Given the description of an element on the screen output the (x, y) to click on. 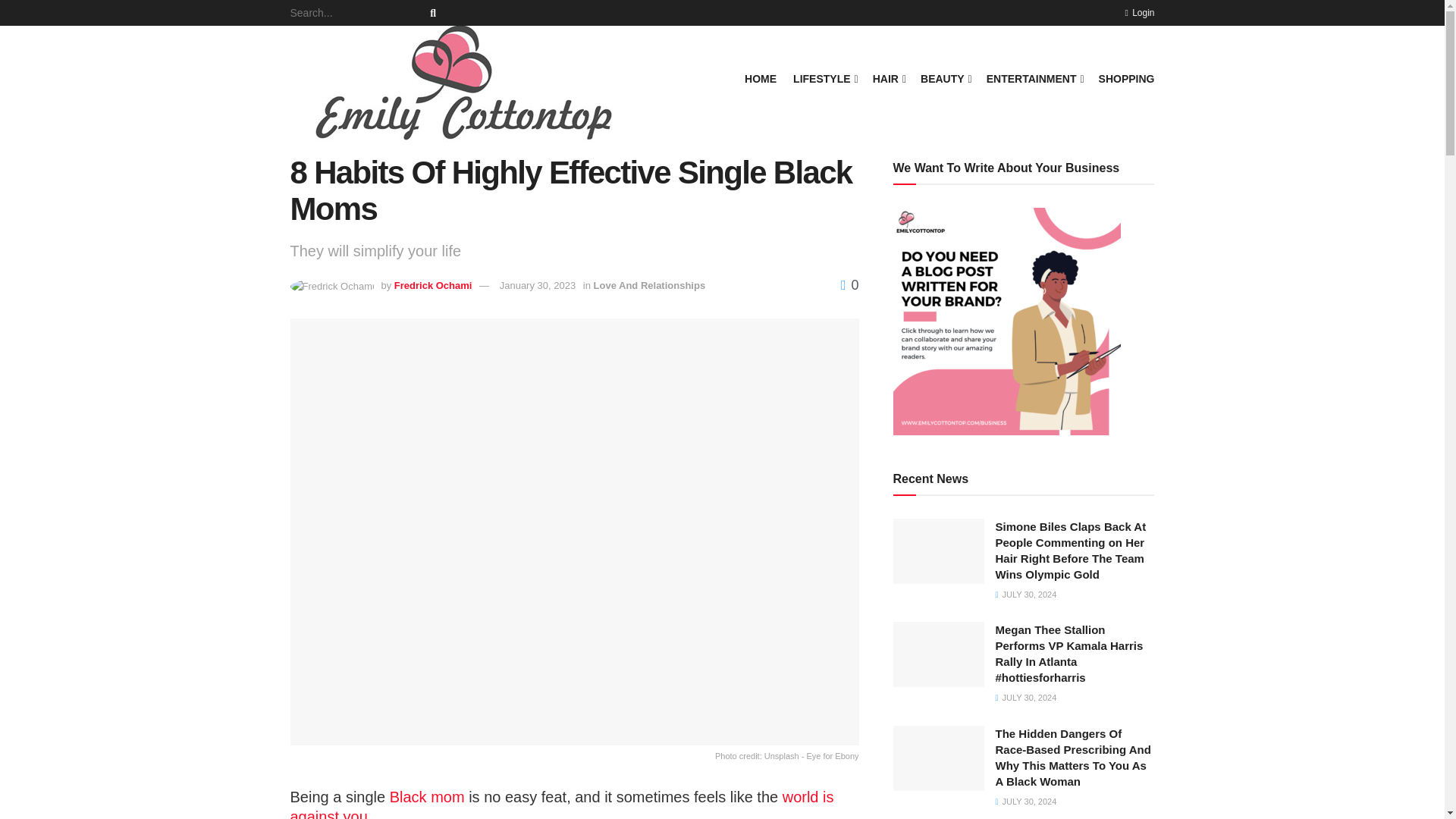
LIFESTYLE (824, 78)
BEAUTY (944, 78)
ENTERTAINMENT (1034, 78)
SHOPPING (1126, 78)
Login (1139, 12)
HAIR (888, 78)
HOME (760, 78)
